Given the description of an element on the screen output the (x, y) to click on. 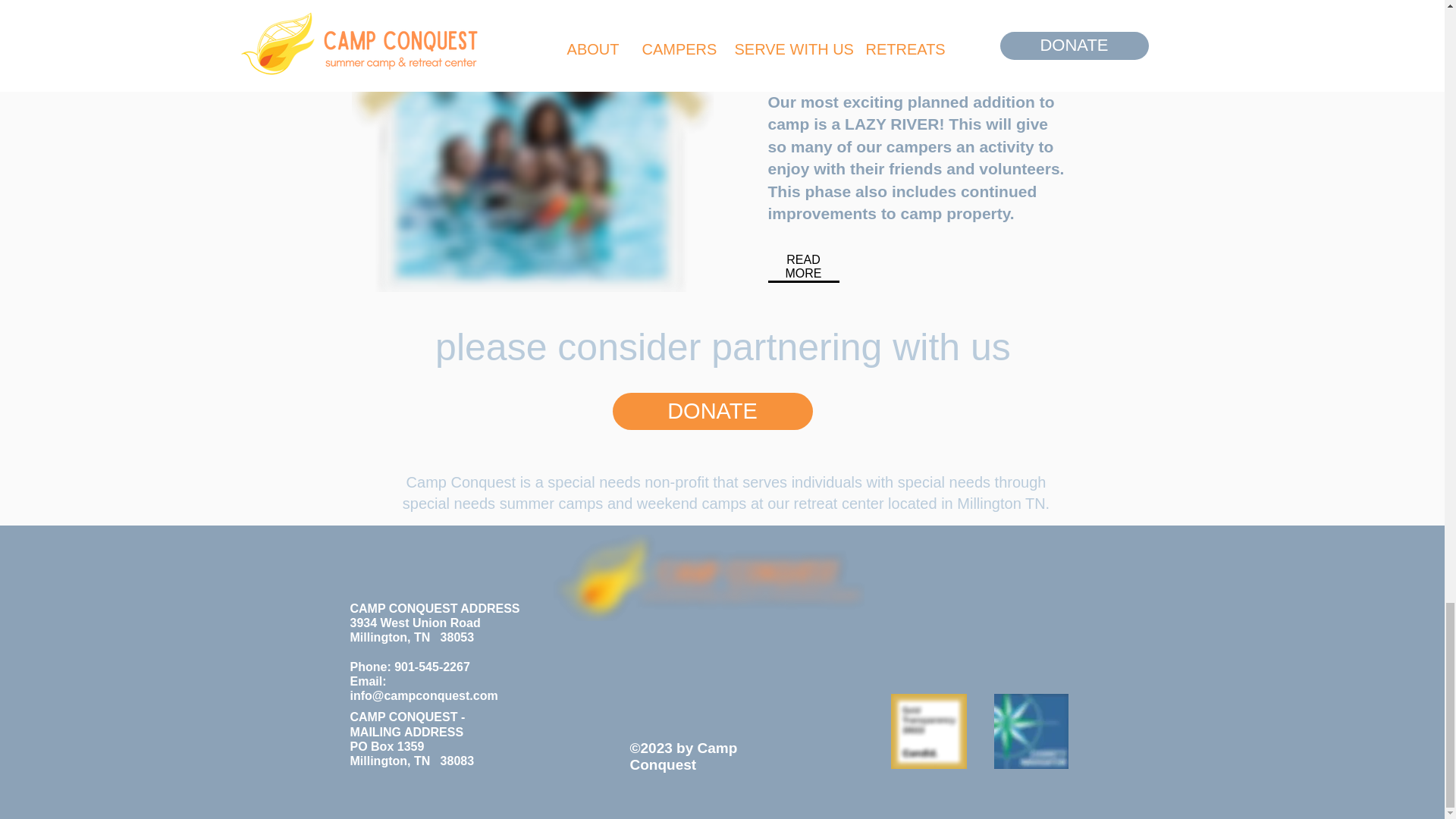
READ MORE (804, 266)
Main Lodge.png (913, 2)
Main Lodge.png (532, 162)
DONATE (712, 411)
